Given the description of an element on the screen output the (x, y) to click on. 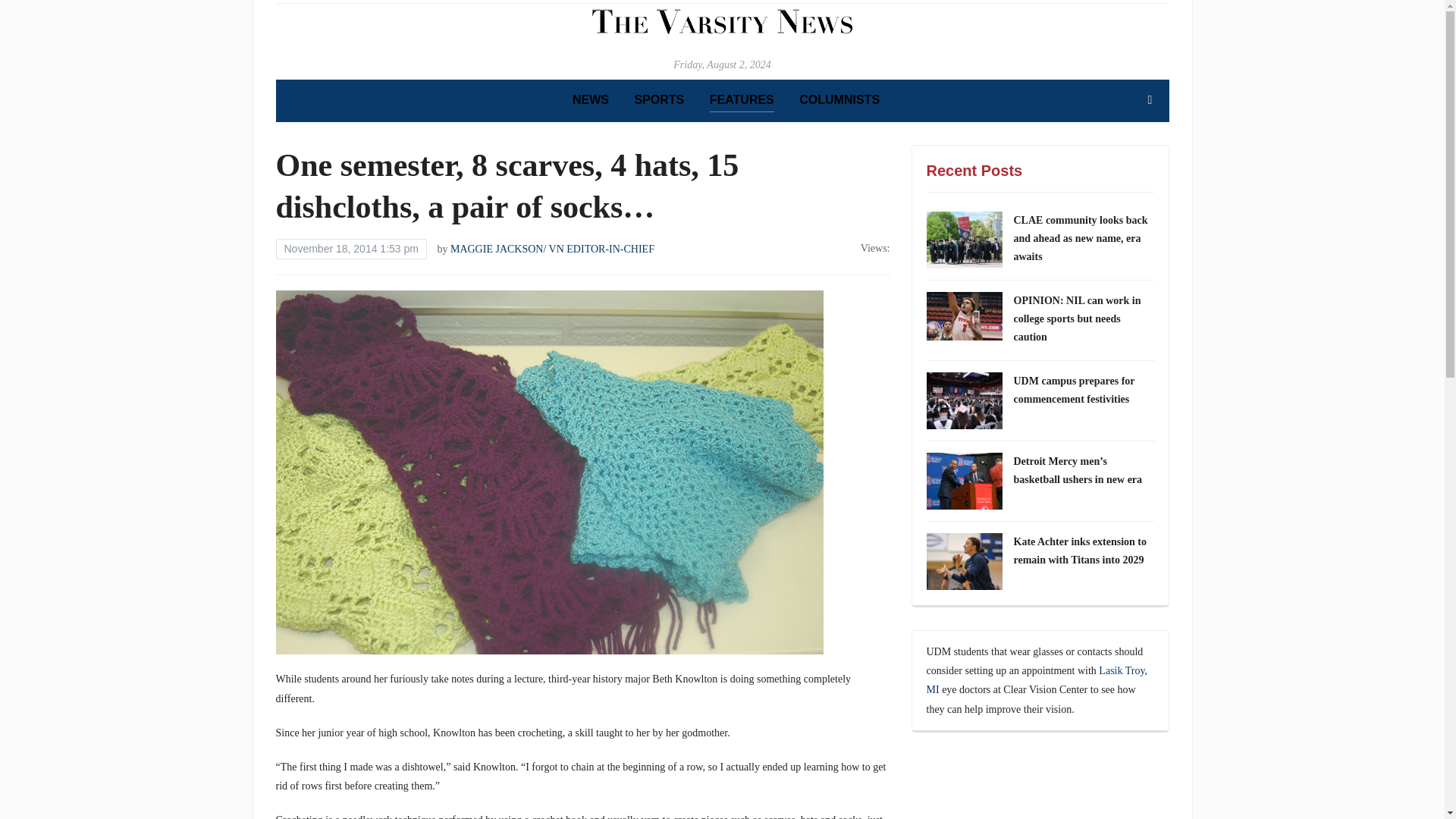
UDM campus prepares for commencement festivities (1073, 389)
OPINION: NIL can work in college sports but needs caution (1076, 318)
COLUMNISTS (839, 100)
FEATURES (742, 100)
Search (1149, 100)
SPORTS (658, 100)
Lasik Troy, MI (1037, 680)
CLAE community looks back and ahead as new name, era awaits (1080, 238)
NEWS (590, 100)
Kate Achter inks extension to remain with Titans into 2029 (1080, 550)
